Given the description of an element on the screen output the (x, y) to click on. 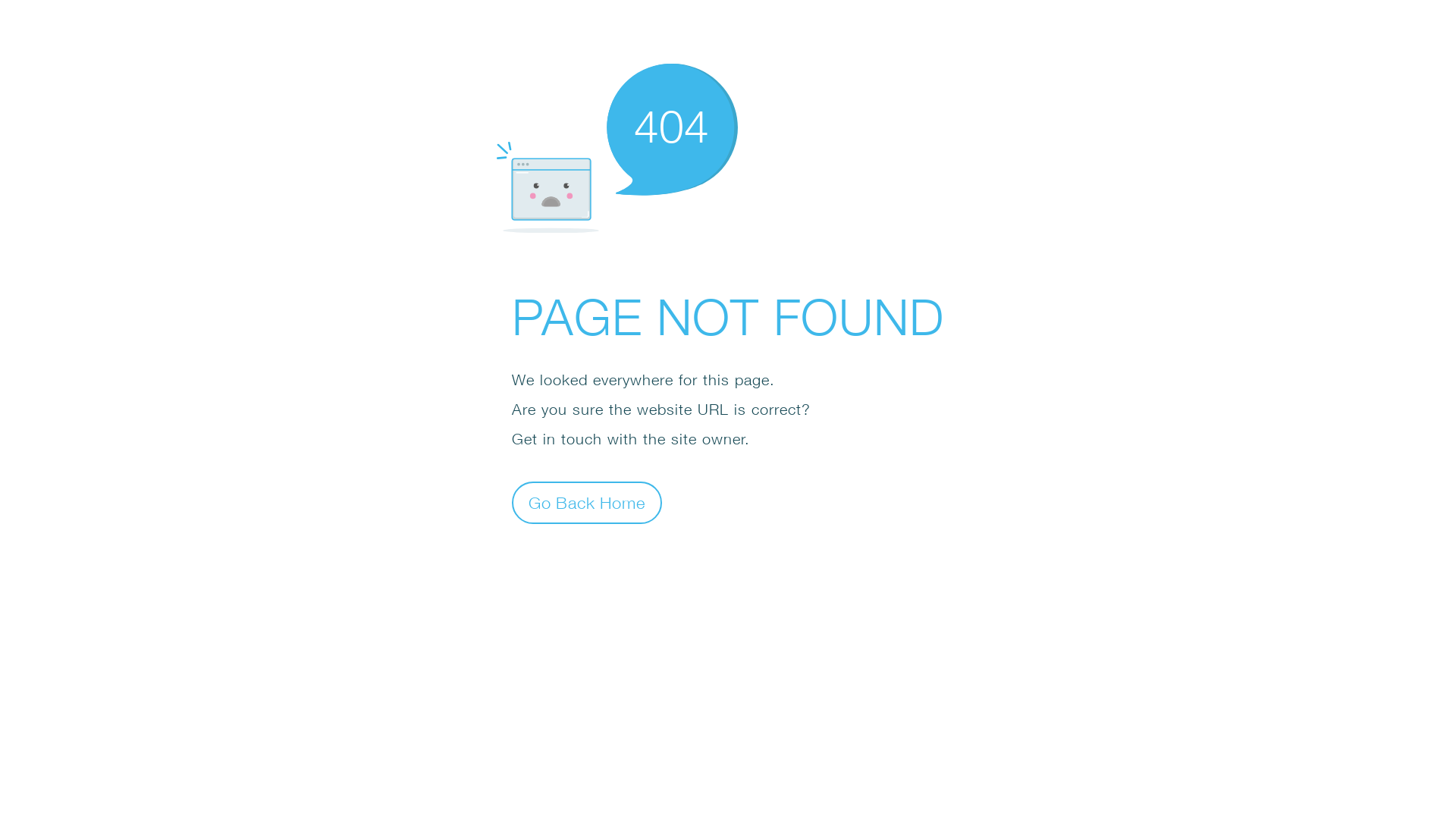
Go Back Home Element type: text (586, 502)
